Given the description of an element on the screen output the (x, y) to click on. 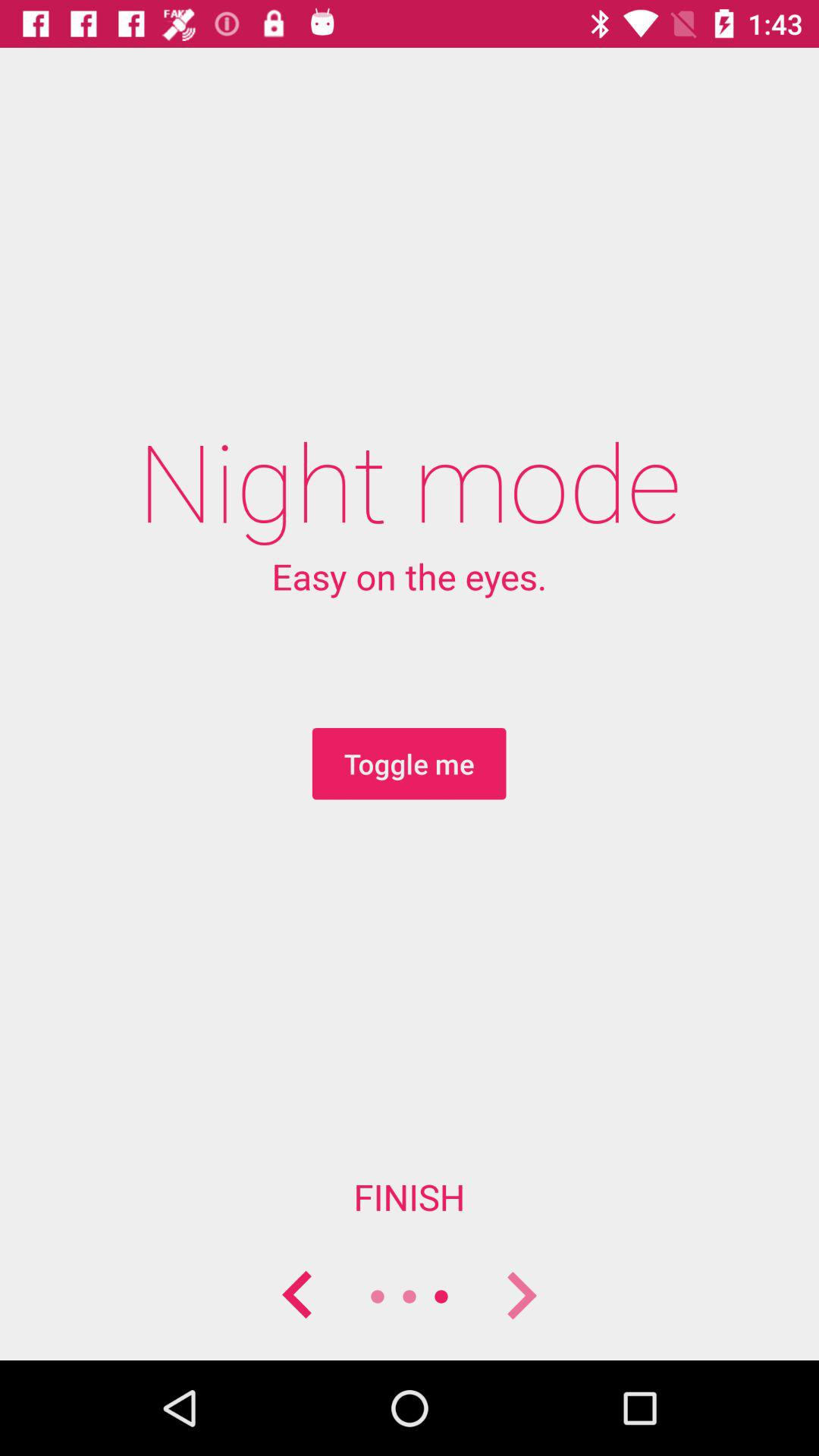
select next (520, 1296)
